Given the description of an element on the screen output the (x, y) to click on. 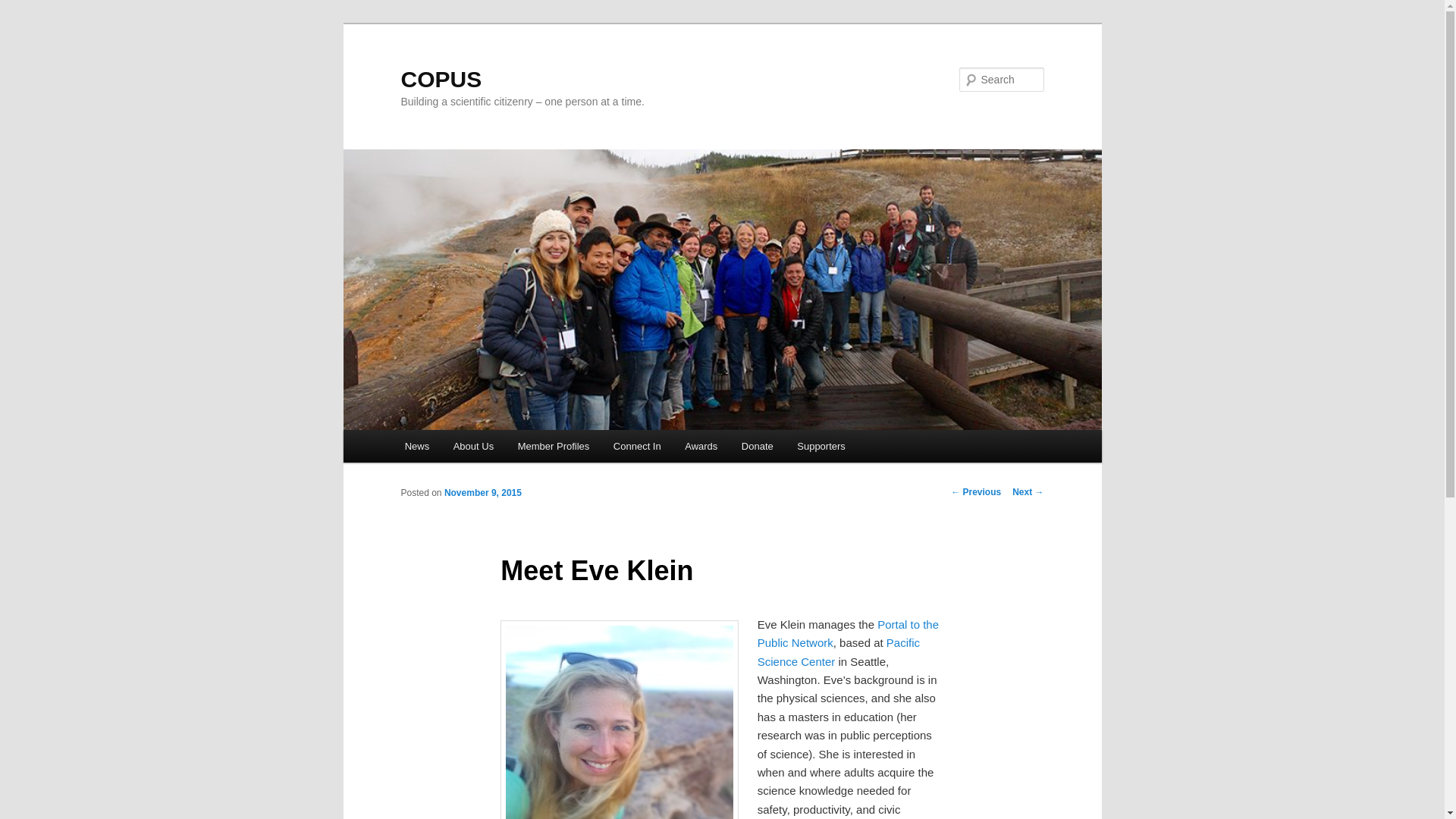
COPUS (440, 78)
News (417, 445)
Donate (756, 445)
Connect In (636, 445)
Awards (700, 445)
November 9, 2015 (482, 492)
Member Profiles (553, 445)
2:23 am (482, 492)
About Us (473, 445)
Pacific Science Center (838, 651)
Supporters (821, 445)
Search (24, 8)
Portal to the Public Network (848, 633)
